Given the description of an element on the screen output the (x, y) to click on. 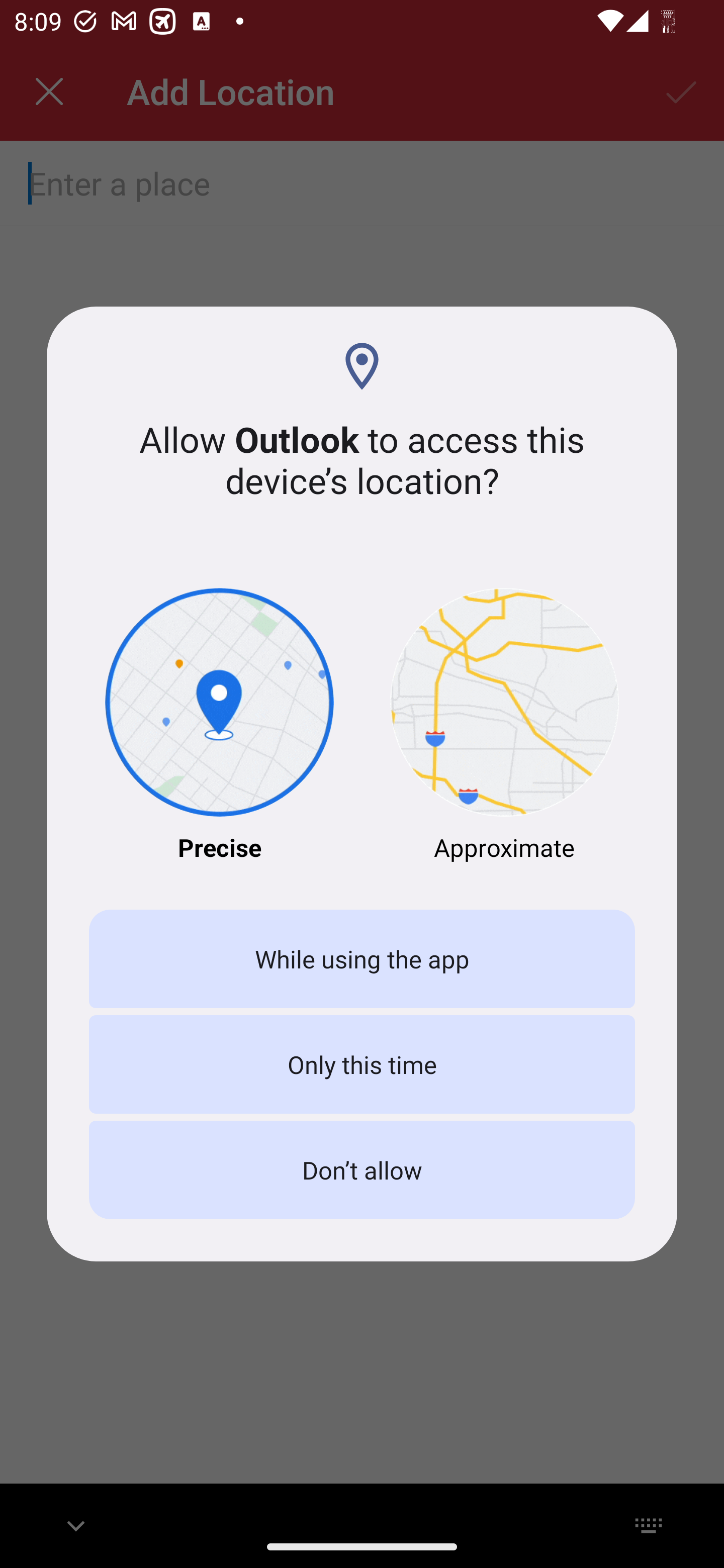
Precise (218, 725)
Approximate (504, 725)
While using the app (361, 958)
Only this time (361, 1063)
Don’t allow (361, 1170)
